Given the description of an element on the screen output the (x, y) to click on. 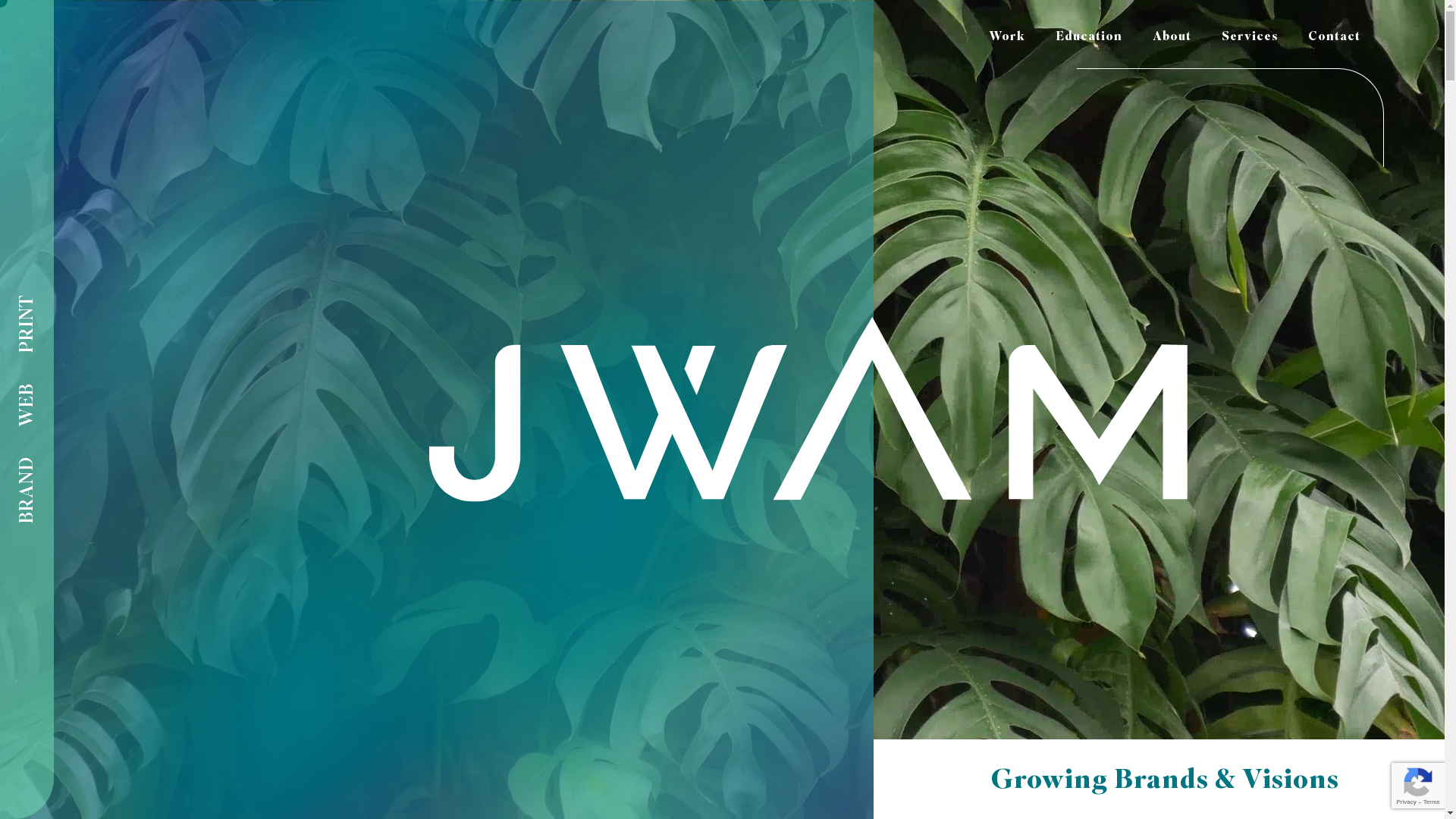
About Element type: text (1171, 32)
Services Element type: text (1249, 32)
Work Element type: text (1006, 32)
BRAND Element type: text (26, 490)
WEB Element type: text (26, 404)
PRINT Element type: text (26, 323)
Education Element type: text (1088, 32)
Contact Element type: text (1334, 32)
